Given the description of an element on the screen output the (x, y) to click on. 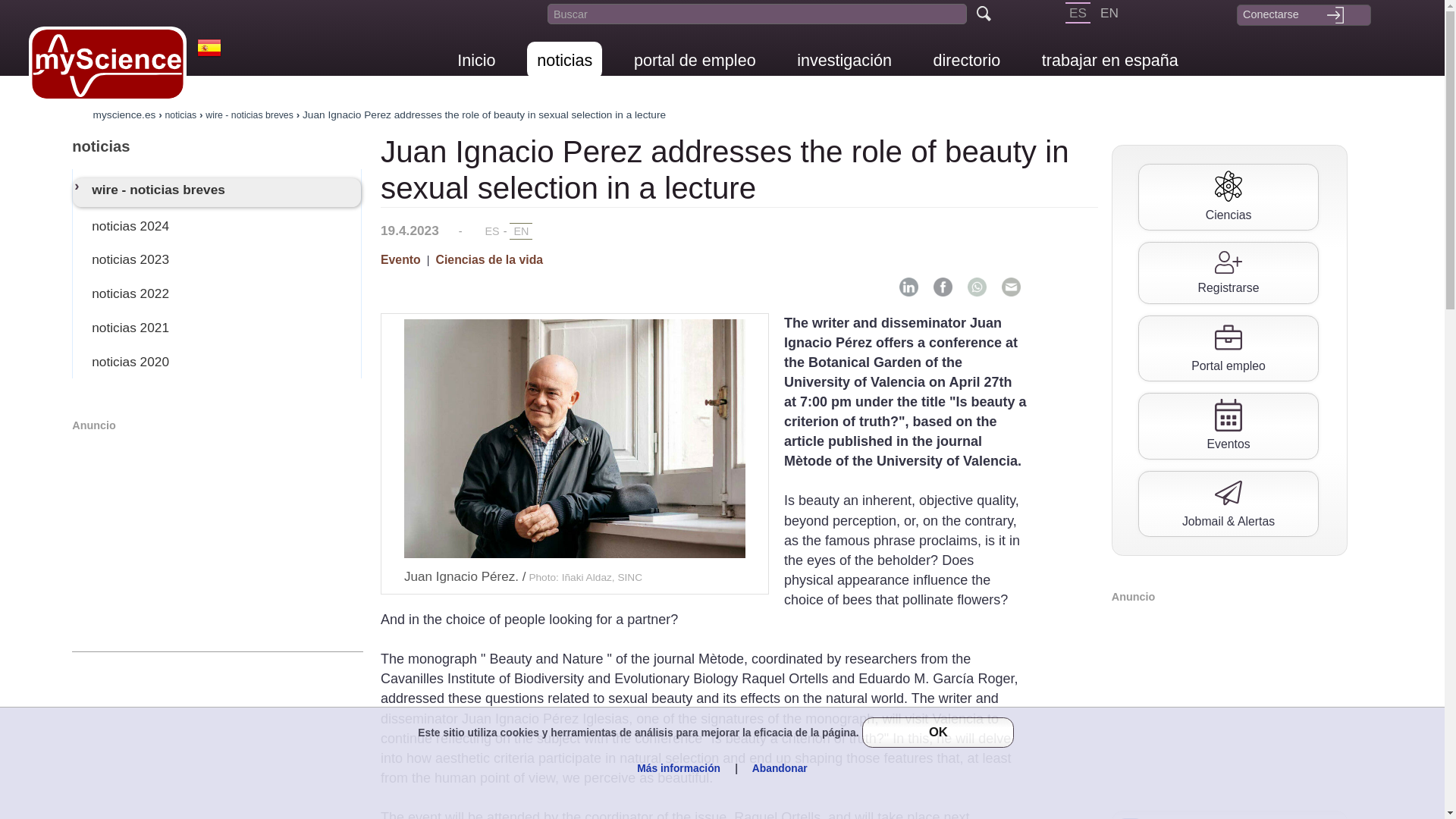
portal de empleo (694, 59)
Conectarse (1303, 14)
myscience.es (124, 114)
directorio (966, 59)
Compartir en LinkedIn (909, 287)
EN (1109, 12)
noticias (564, 59)
 noticias  (216, 145)
Compartir en WhatsApp Web (977, 287)
spanish (1077, 12)
